Given the description of an element on the screen output the (x, y) to click on. 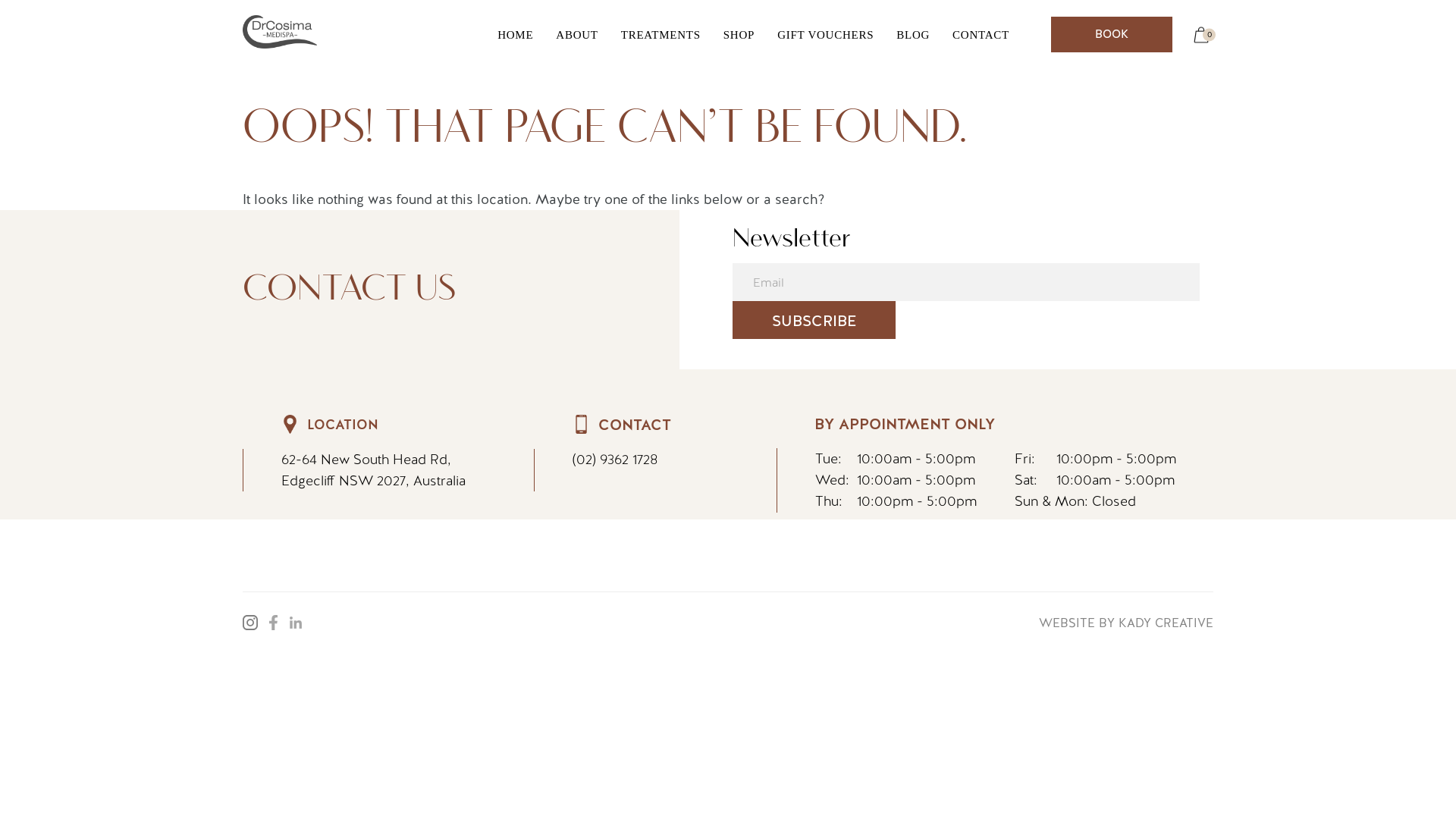
0 Element type: text (1201, 34)
(02) 9362 1728 Element type: text (614, 460)
WEBSITE BY KADY CREATIVE Element type: text (1125, 622)
ABOUT Element type: text (576, 35)
CONTACT Element type: text (980, 35)
LOCATION Element type: text (342, 424)
Instagram Element type: text (249, 622)
Facebook Element type: text (272, 622)
Subscribe Element type: text (813, 319)
TREATMENTS Element type: text (660, 35)
BLOG Element type: text (912, 35)
Dr Cosima Element type: text (276, 78)
SHOP Element type: text (738, 35)
BOOK Element type: text (1111, 34)
LinkedIn Element type: text (295, 622)
HOME Element type: text (515, 35)
GIFT VOUCHERS Element type: text (825, 35)
